Given the description of an element on the screen output the (x, y) to click on. 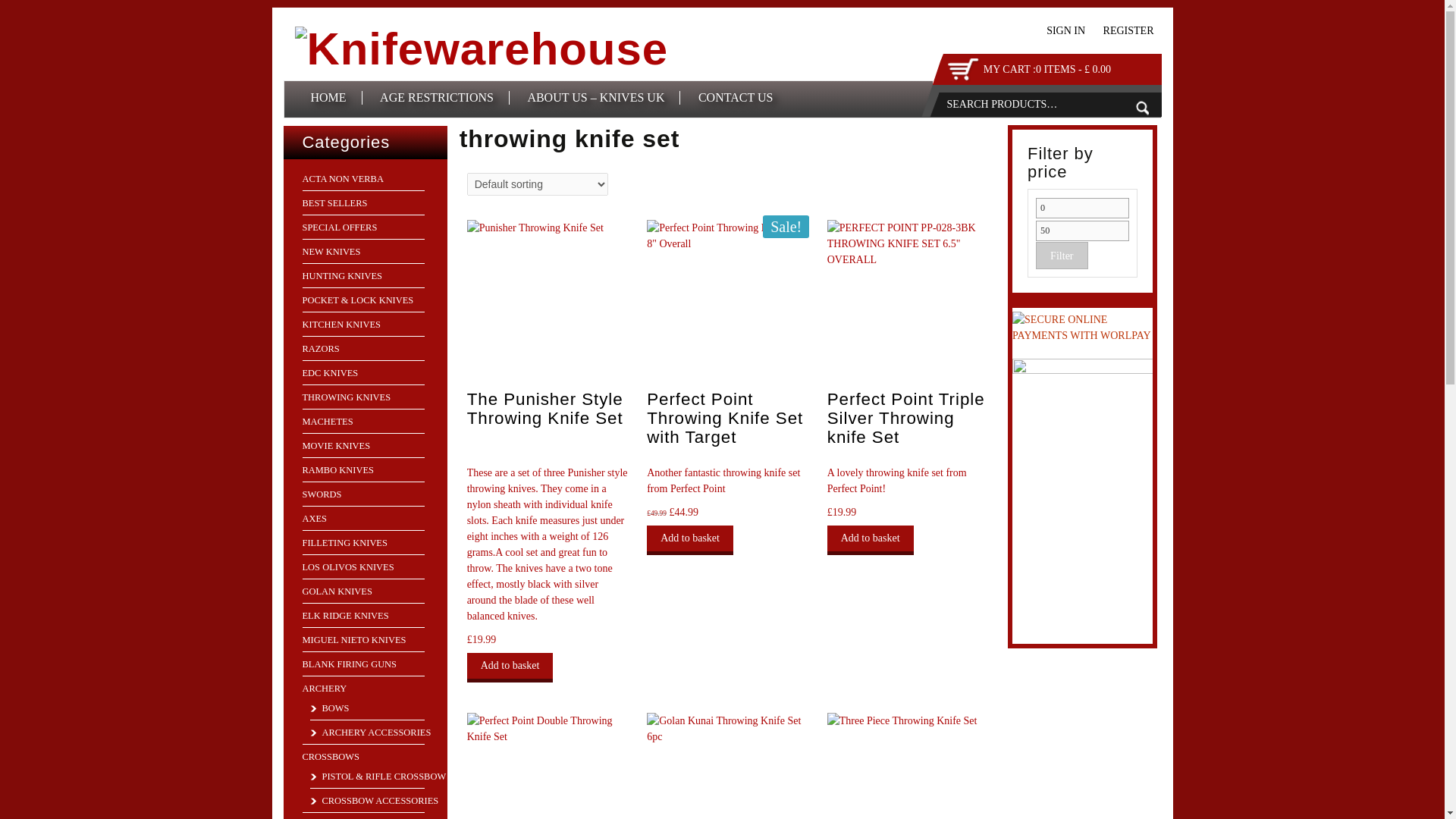
MOVIE KNIVES (335, 445)
KITCHEN KNIVES (340, 324)
50 (1081, 230)
CROSSBOW ACCESSORIES (373, 800)
Login (1065, 30)
HOME (328, 97)
LOS OLIVOS KNIVES (347, 566)
ACTA NON VERBA (341, 178)
FILLETING KNIVES (344, 542)
AXES (313, 518)
